Given the description of an element on the screen output the (x, y) to click on. 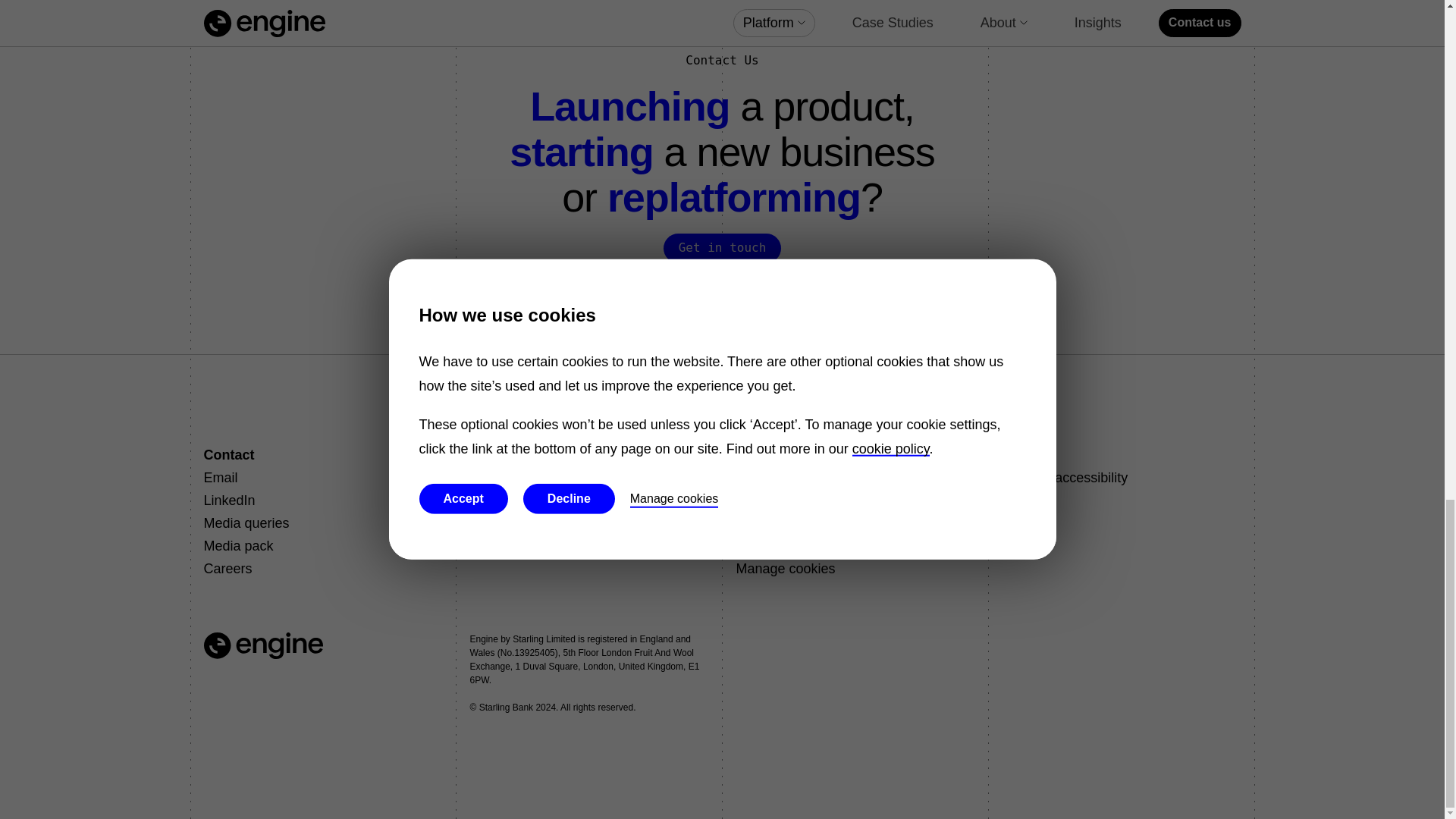
Media pack (238, 545)
LinkedIn (228, 500)
Manage cookies (784, 568)
Get in touch (722, 247)
UK B2B Banking Services (548, 500)
Media queries (245, 522)
Privacy Notice (778, 477)
Email (220, 477)
Careers (227, 568)
Website accessibility (1065, 477)
Cookie Policy (776, 545)
Starling Bank Website (537, 477)
Carbon Reduction Plan (805, 522)
Terms of Use (775, 500)
